Given the description of an element on the screen output the (x, y) to click on. 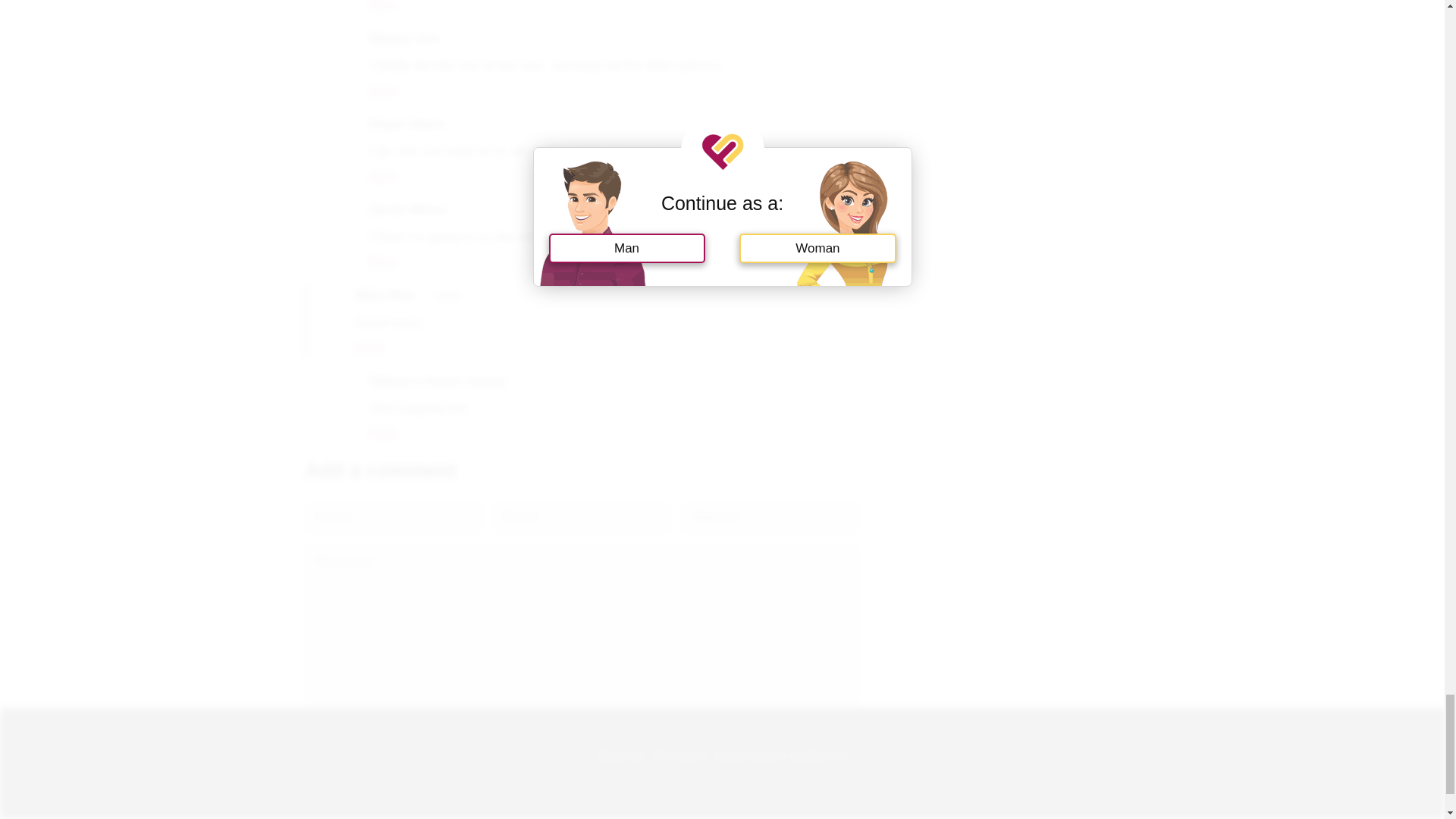
Image Usage Conditions (749, 753)
About Us (620, 753)
Contact Us (818, 753)
Post Comment (356, 766)
yes (309, 731)
Information For Users (678, 753)
